Given the description of an element on the screen output the (x, y) to click on. 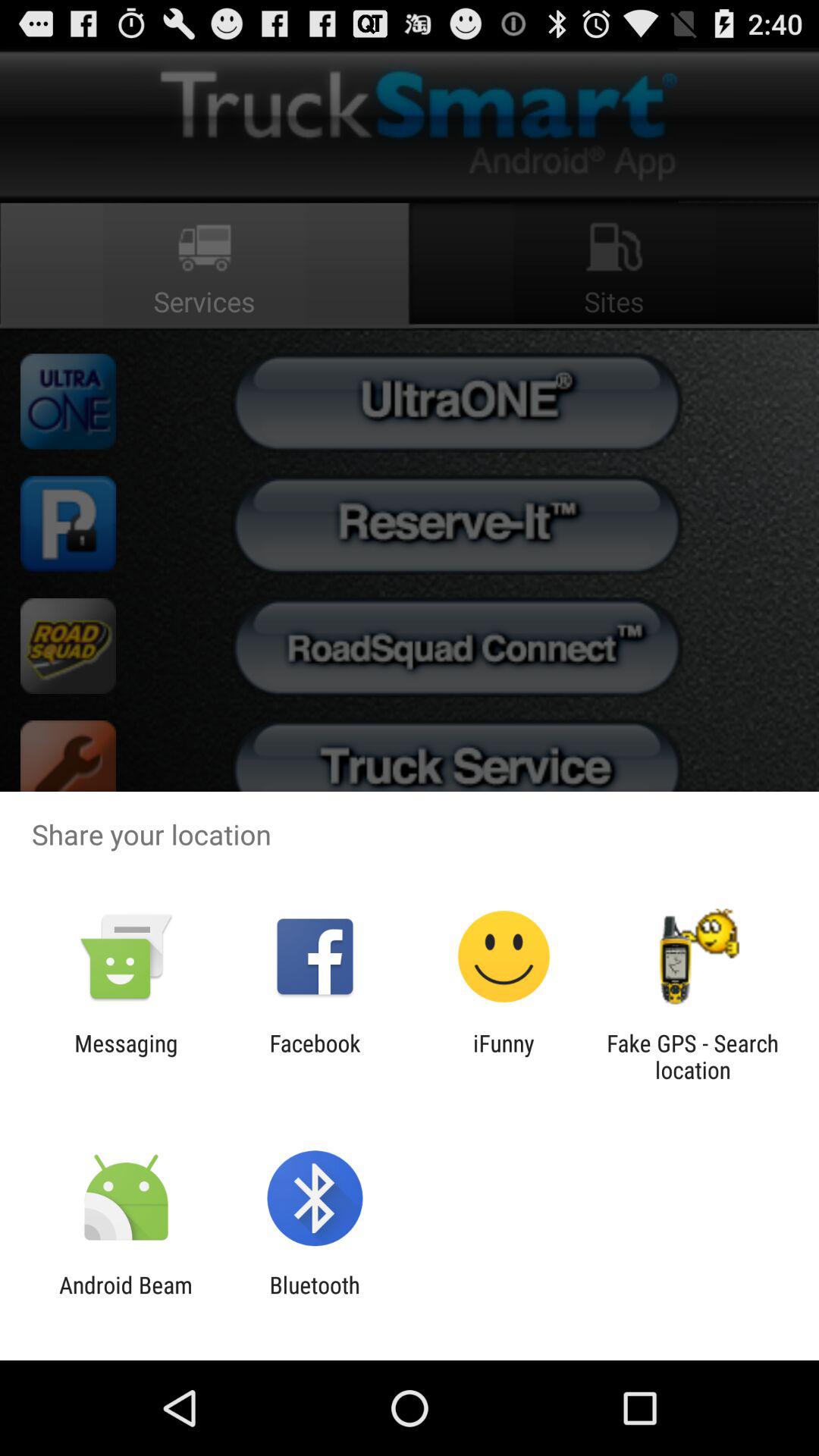
turn on the item to the left of the bluetooth icon (125, 1298)
